Given the description of an element on the screen output the (x, y) to click on. 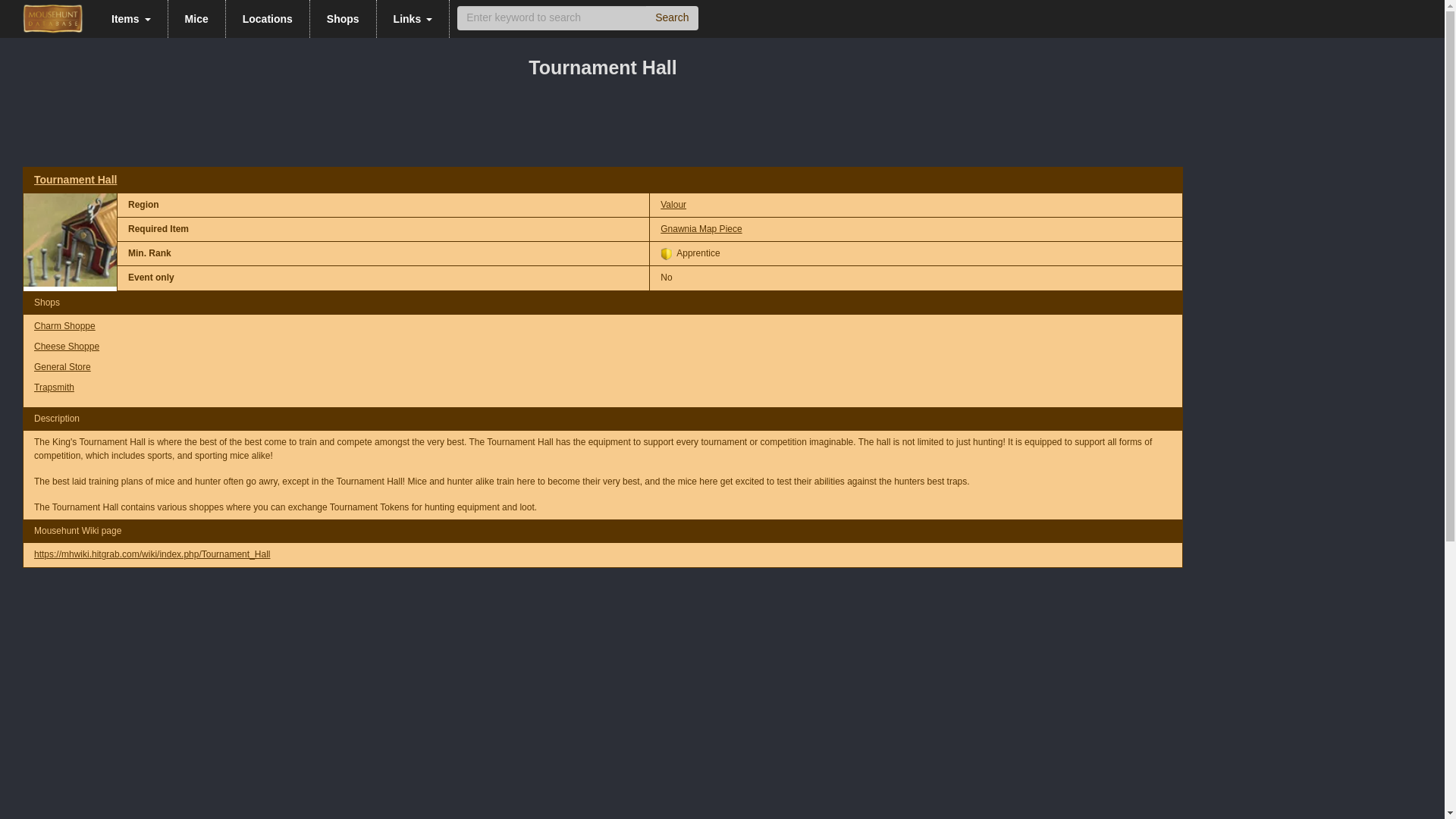
Links (413, 18)
Locations (267, 18)
Search (671, 17)
Mice (196, 18)
Advertisement (478, 772)
Advertisement (603, 626)
Advertisement (603, 128)
Gnawnia Map Piece (701, 228)
Cheese Shoppe (66, 346)
Apprentice (666, 254)
